Given the description of an element on the screen output the (x, y) to click on. 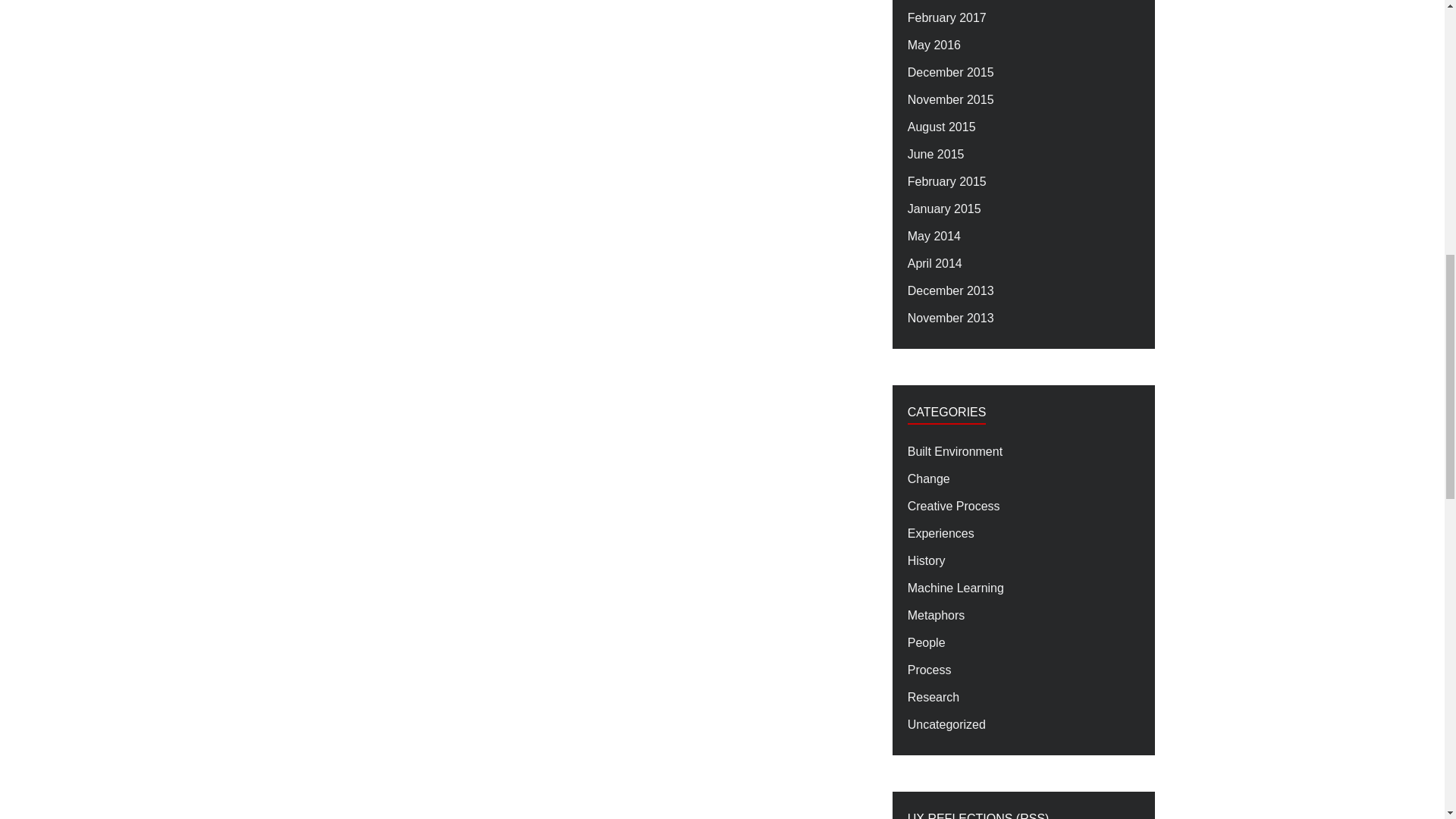
December 2015 (950, 72)
Change (928, 479)
June 2015 (935, 154)
Built Environment (955, 452)
December 2013 (950, 290)
November 2015 (950, 99)
April 2014 (934, 263)
Experiences (940, 533)
August 2015 (941, 126)
January 2015 (944, 208)
History (925, 561)
Metaphors (936, 615)
Machine Learning (955, 588)
November 2013 (950, 318)
February 2015 (947, 181)
